Given the description of an element on the screen output the (x, y) to click on. 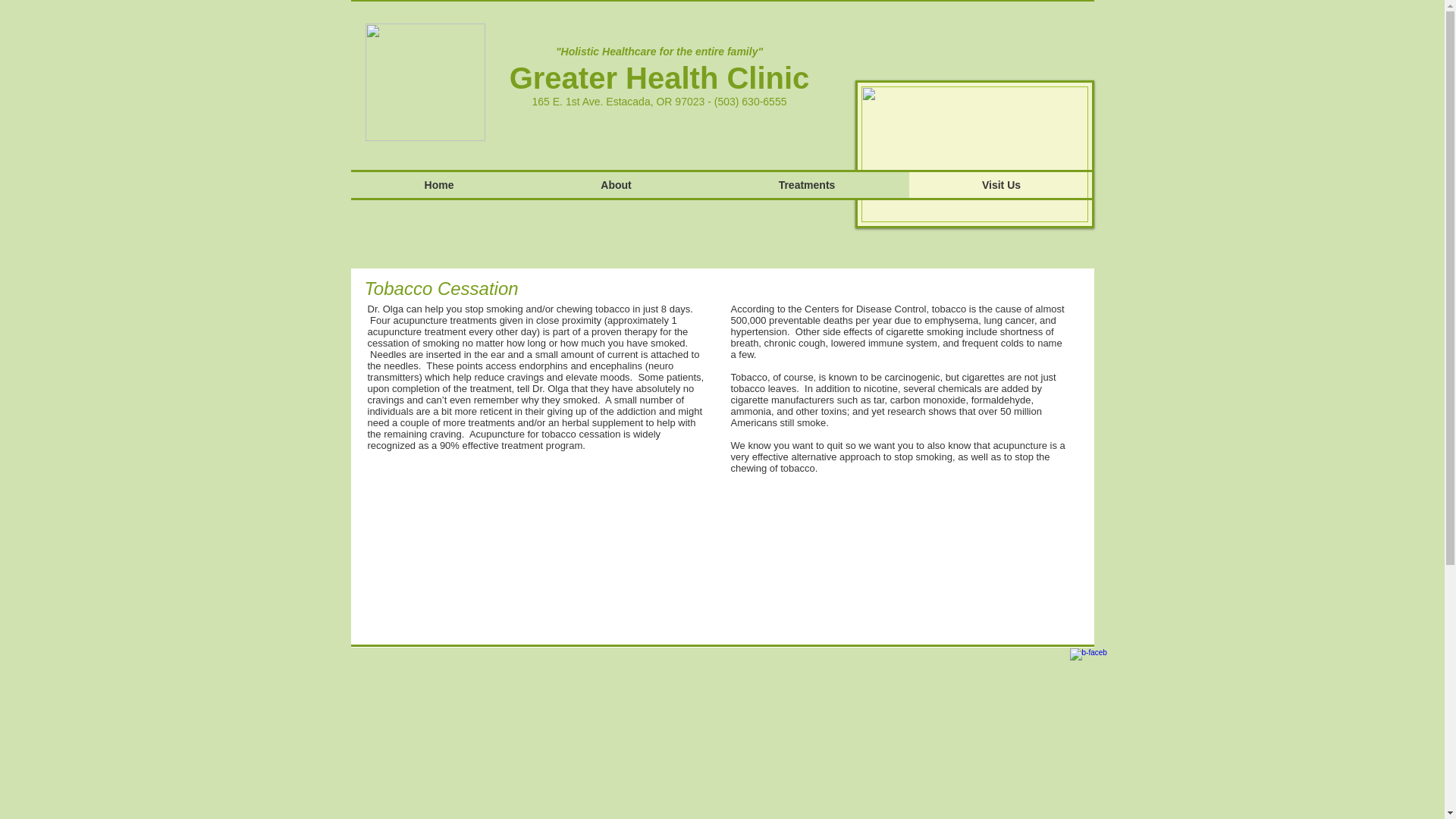
Visit Us (1000, 184)
Treatments (806, 184)
Home (438, 184)
Greater (563, 78)
About (615, 184)
